Given the description of an element on the screen output the (x, y) to click on. 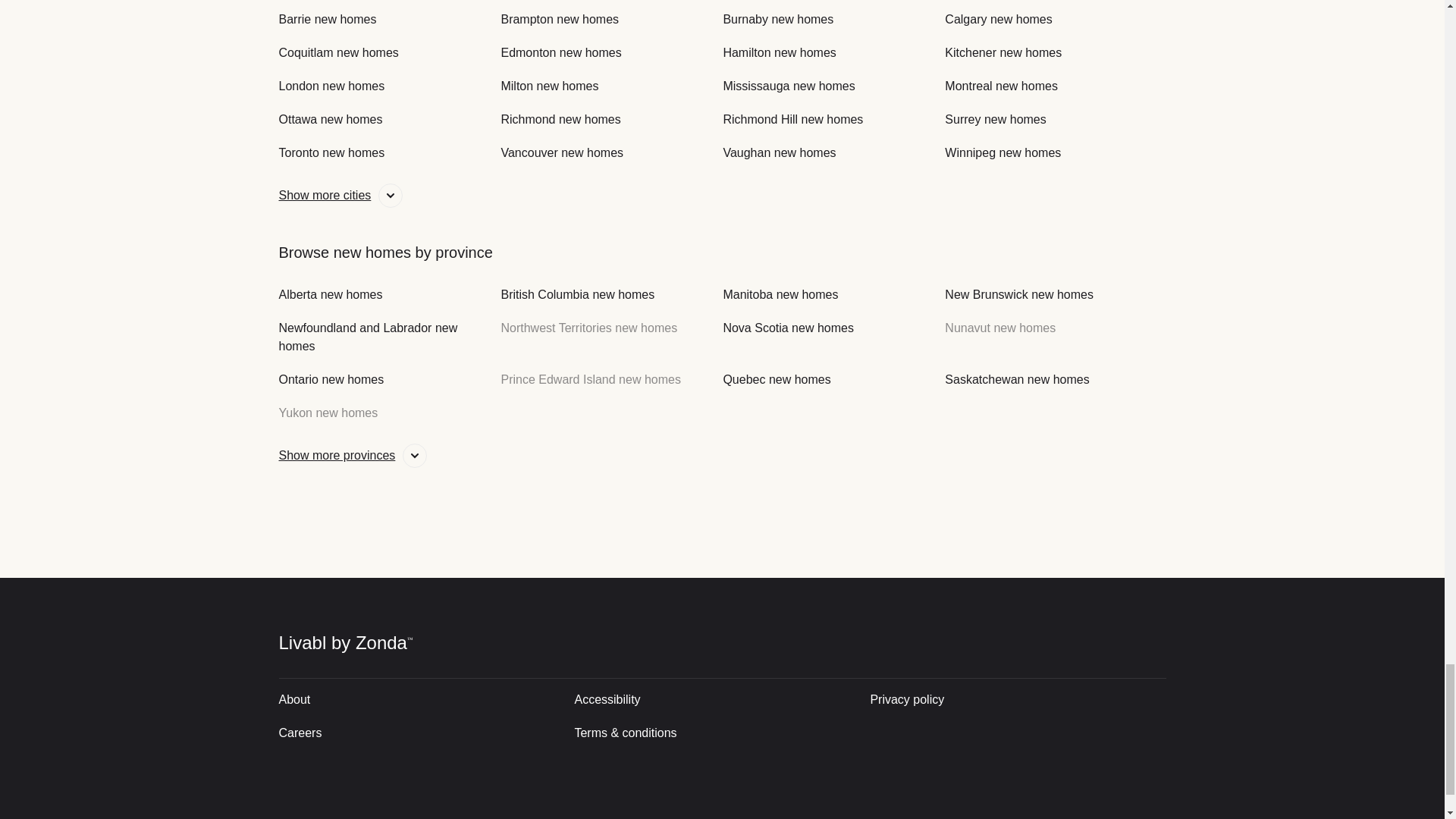
Pinterest (1150, 815)
Facebook (1098, 815)
Twitter (991, 815)
Instagram (1045, 815)
